Given the description of an element on the screen output the (x, y) to click on. 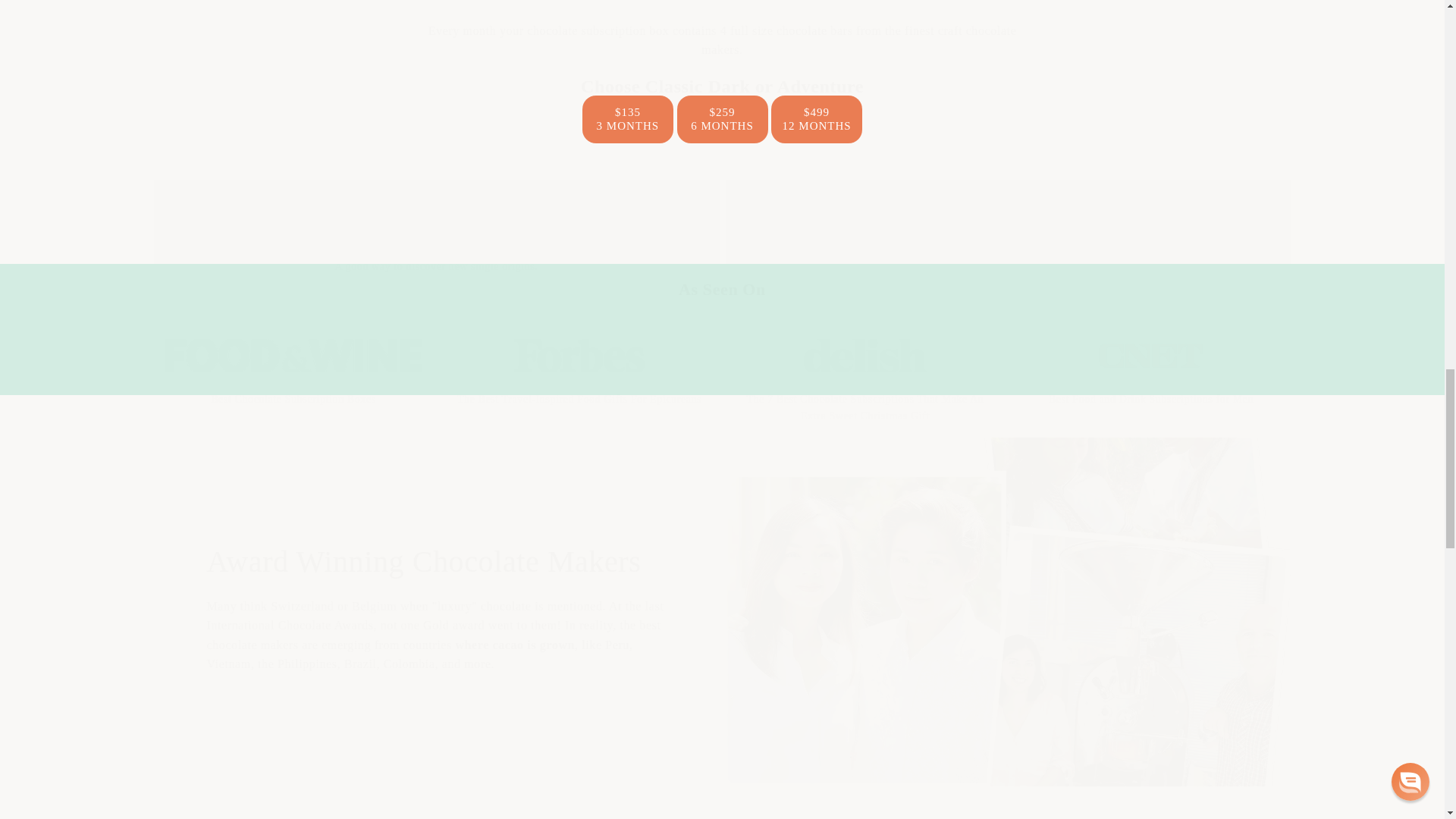
Best Food and Drink Subscriptions for Men (1151, 382)
The Best Travel-Inspired Food Gifts For Epicureans (579, 382)
Best Chocolate Subscription Boxes (292, 382)
Choose Classic Dark or Adventure (721, 86)
